Given the description of an element on the screen output the (x, y) to click on. 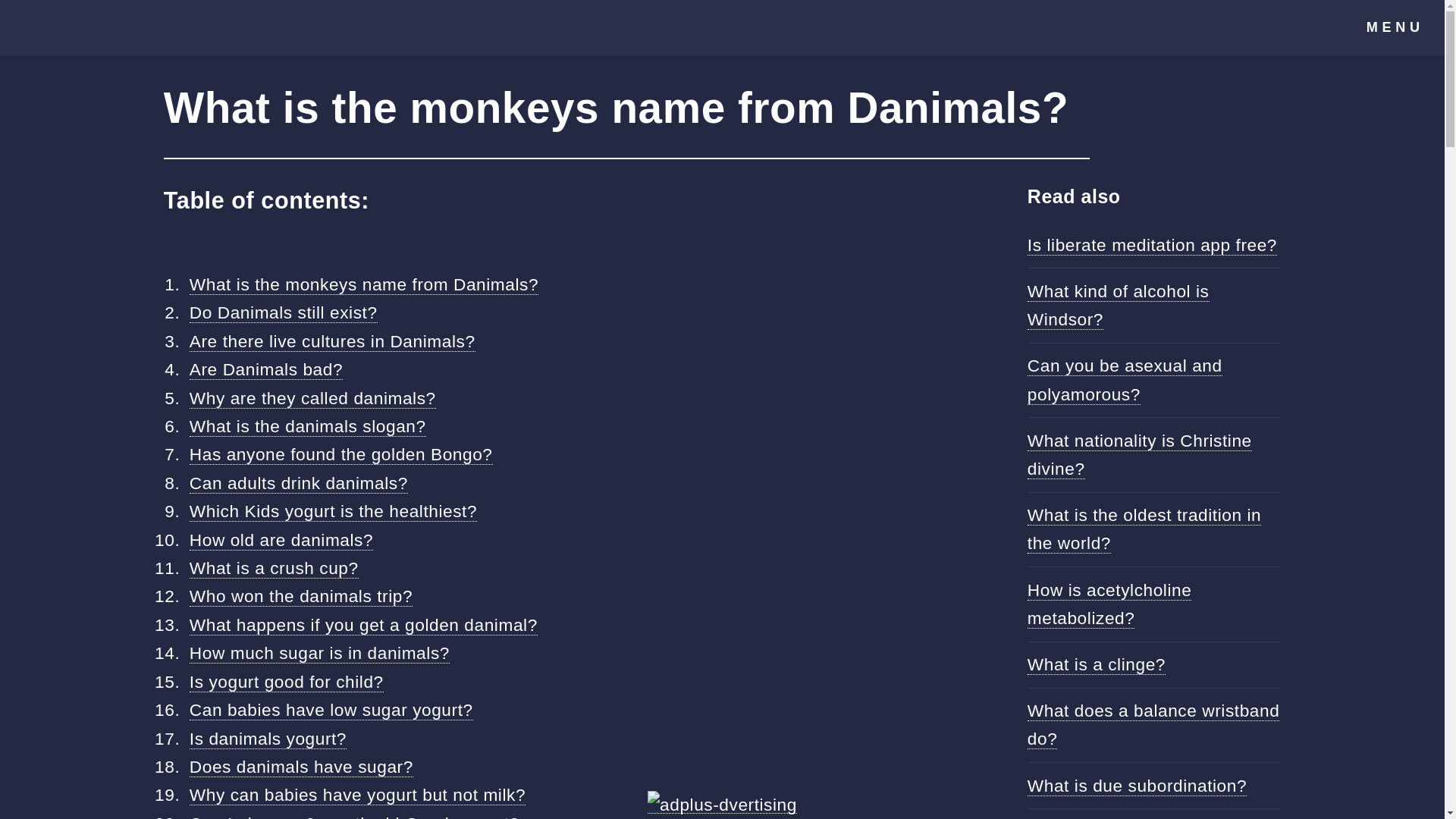
Does danimals have sugar? (301, 766)
What does a balance wristband do? (1153, 725)
Has anyone found the golden Bongo? (341, 454)
How is acetylcholine metabolized? (1109, 603)
What is a crush cup? (273, 567)
Why can babies have yogurt but not milk? (357, 794)
What is due subordination? (1136, 785)
What kind of alcohol is Windsor? (1118, 305)
What is the danimals slogan? (307, 426)
Do Danimals still exist? (283, 312)
